Given the description of an element on the screen output the (x, y) to click on. 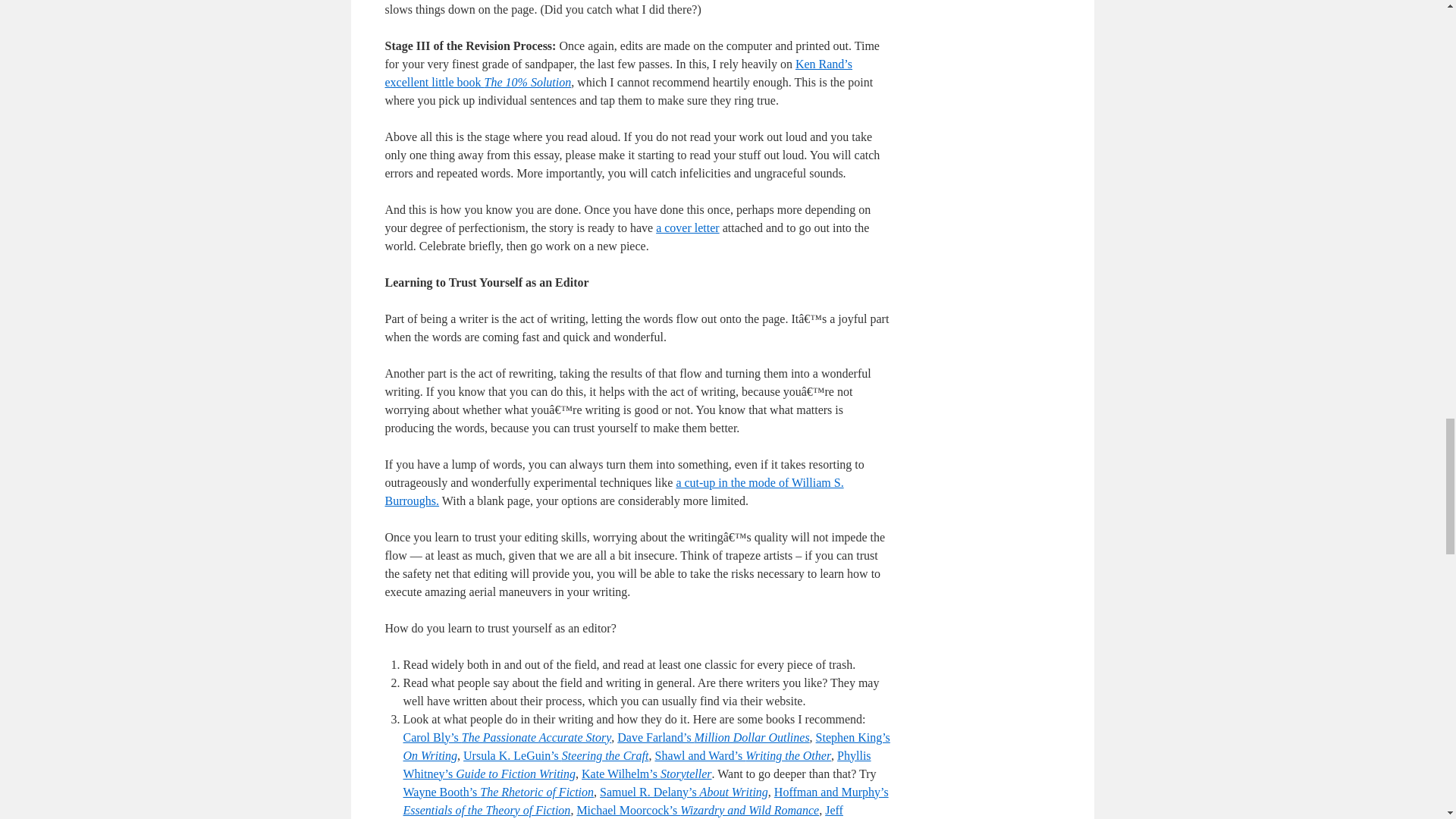
a cut-up in the mode of William S. Burroughs. (614, 490)
a cover letter (687, 227)
